Given the description of an element on the screen output the (x, y) to click on. 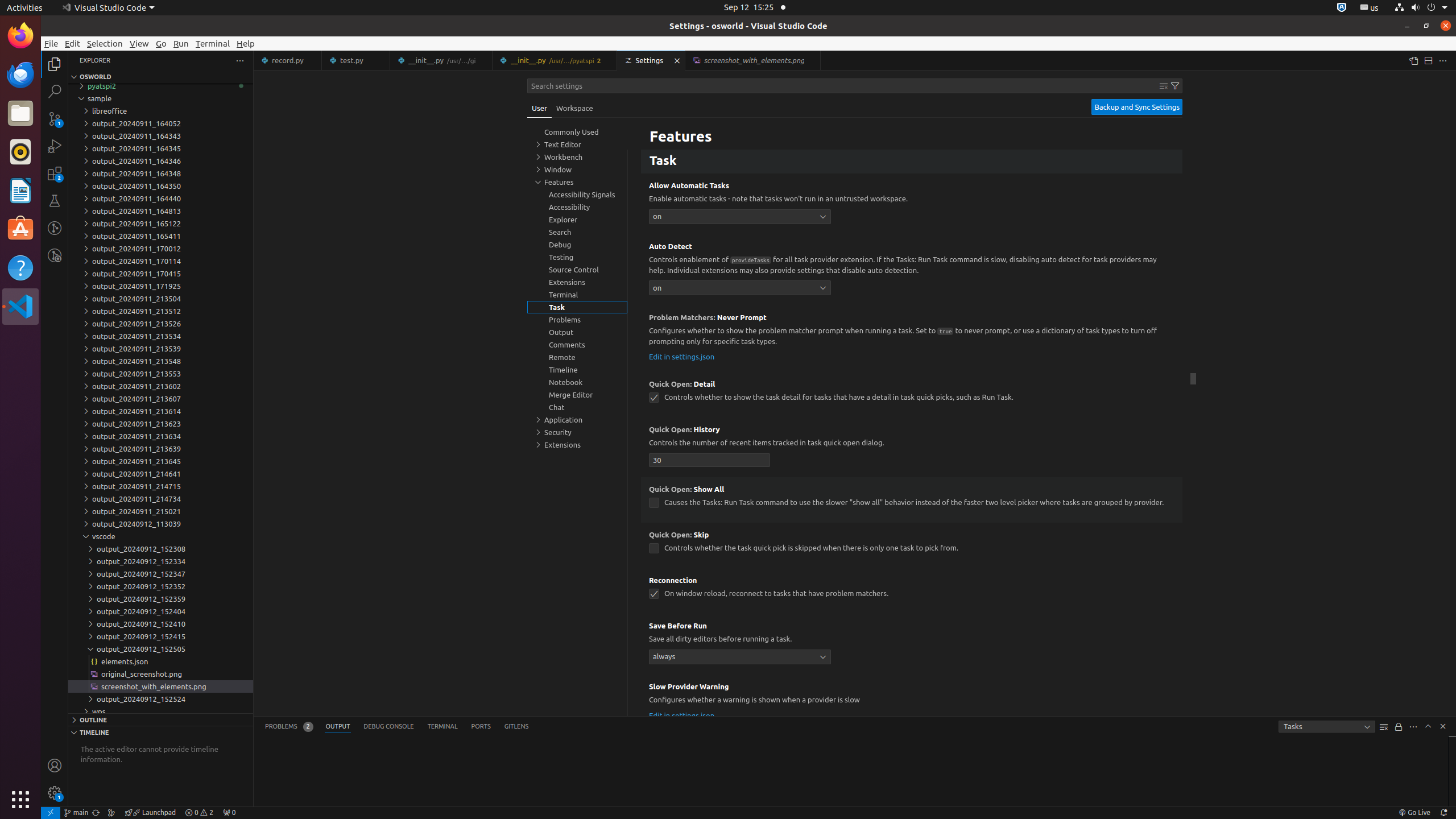
output_20240911_170012 Element type: tree-item (160, 248)
output_20240911_213534 Element type: tree-item (160, 335)
Explorer Section: osworld Element type: push-button (160, 76)
Chat, group Element type: tree-item (577, 406)
